Given the description of an element on the screen output the (x, y) to click on. 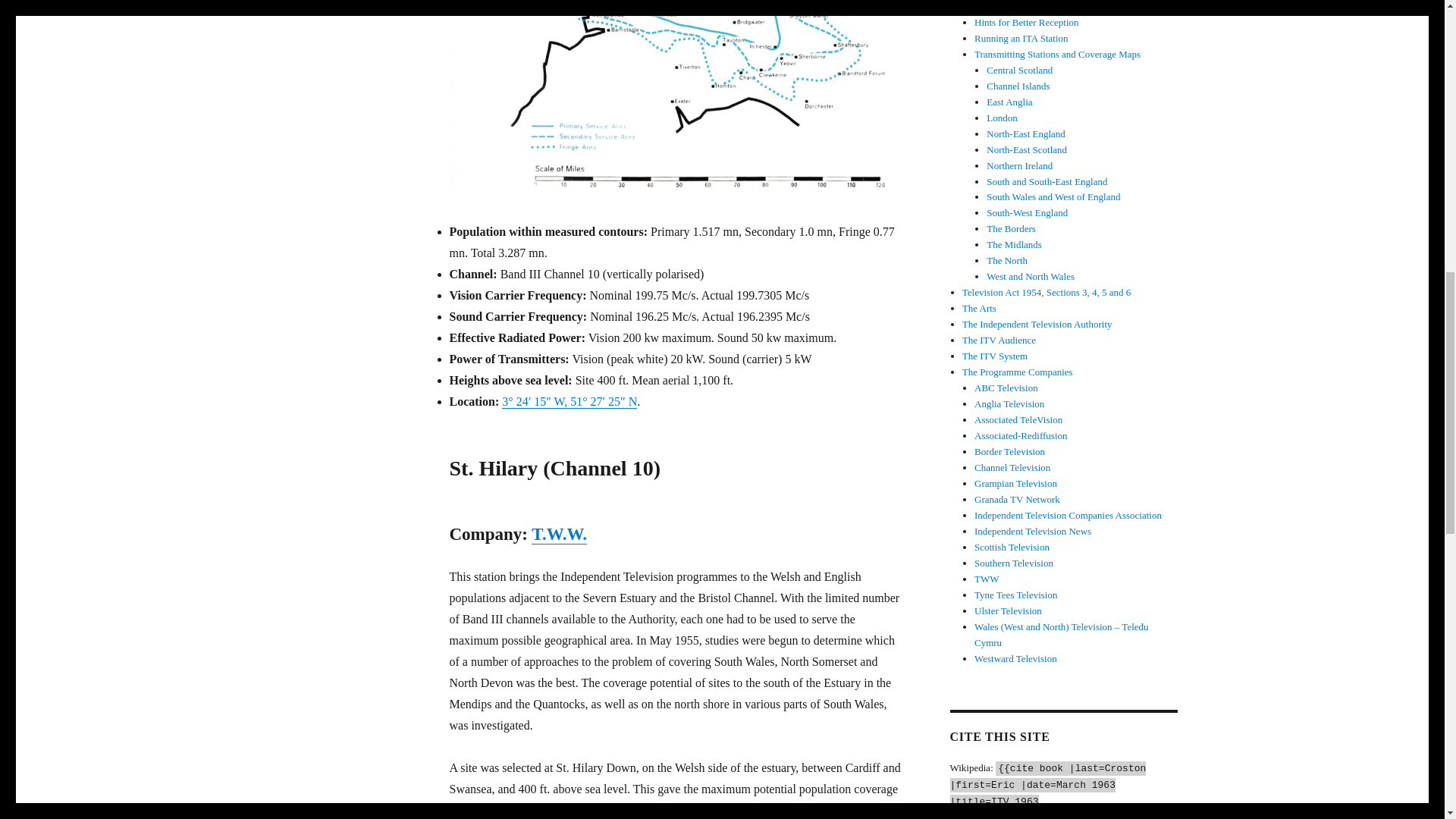
T.W.W. (558, 533)
